Given the description of an element on the screen output the (x, y) to click on. 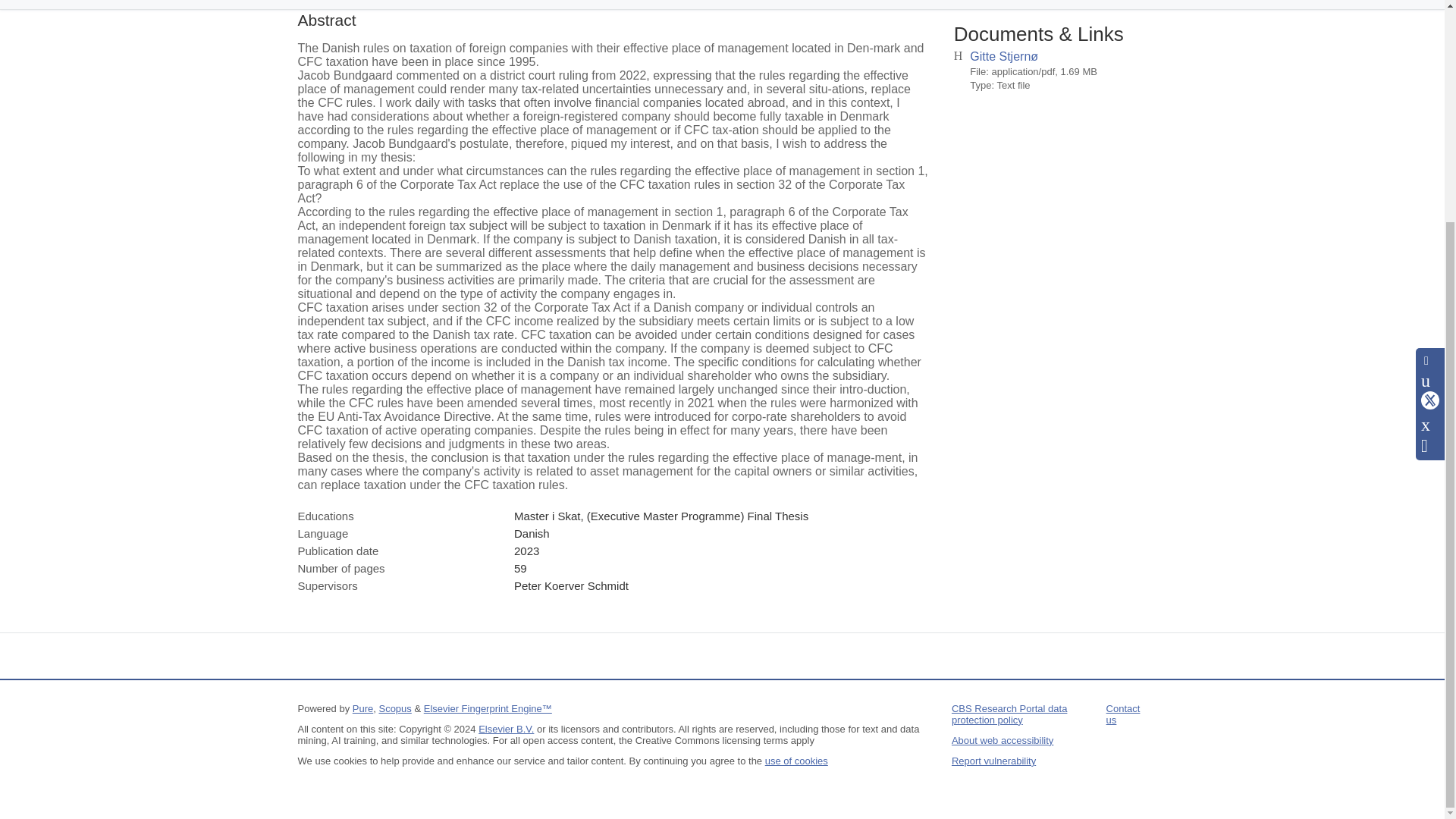
X (1430, 108)
Scopus (394, 708)
About web accessibility (1002, 740)
Pure (362, 708)
CBS Research Portal data protection policy (1009, 713)
use of cookies (796, 760)
Report vulnerability (993, 760)
Elsevier B.V. (506, 728)
X (1430, 106)
Contact us (1123, 713)
